Given the description of an element on the screen output the (x, y) to click on. 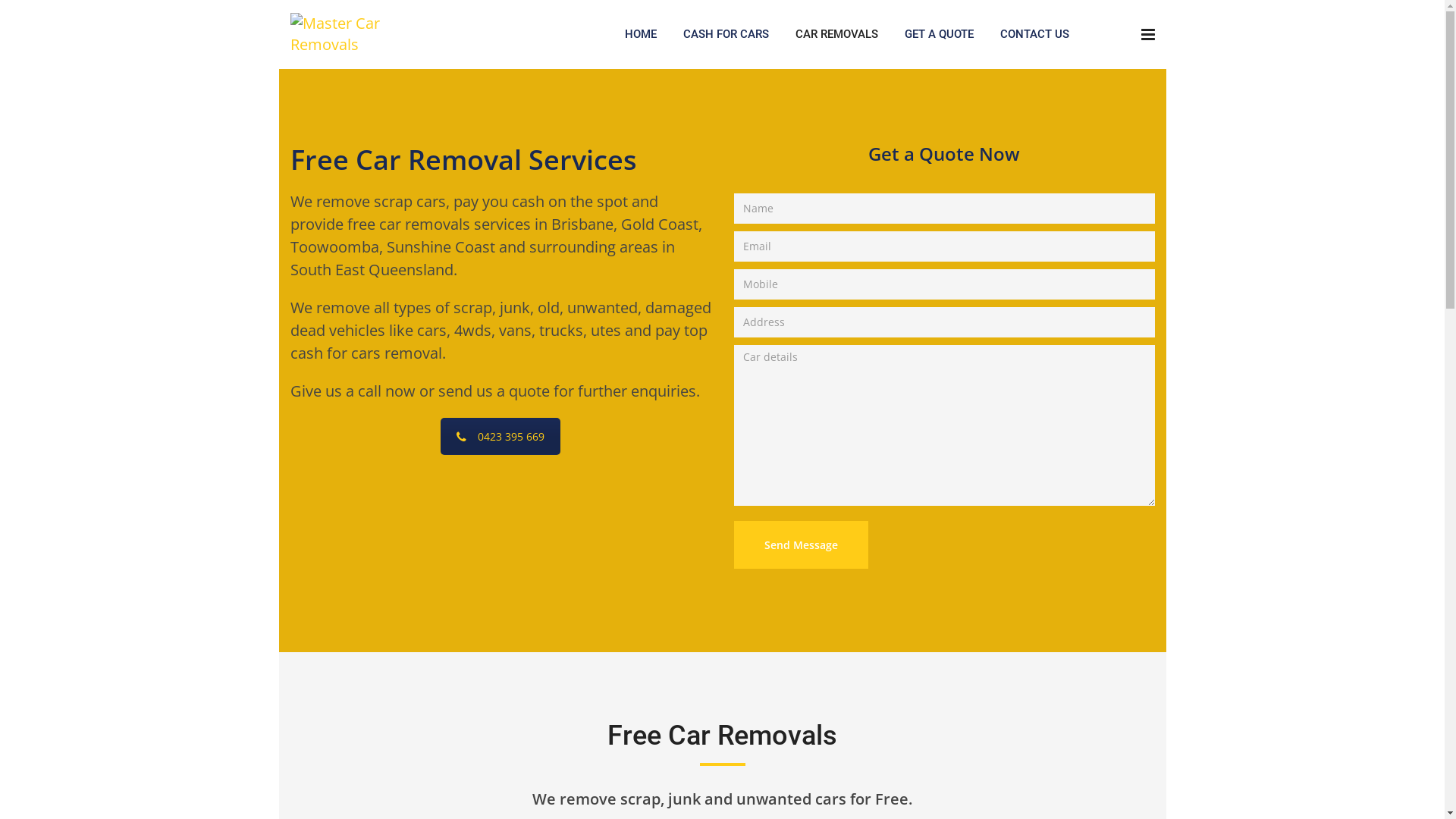
Send Message Element type: text (801, 544)
CAR REMOVALS Element type: text (836, 34)
GET A QUOTE Element type: text (939, 34)
CONTACT US Element type: text (1034, 34)
CASH FOR CARS Element type: text (725, 34)
HOME Element type: text (640, 34)
0423 395 669 Element type: text (500, 436)
